Given the description of an element on the screen output the (x, y) to click on. 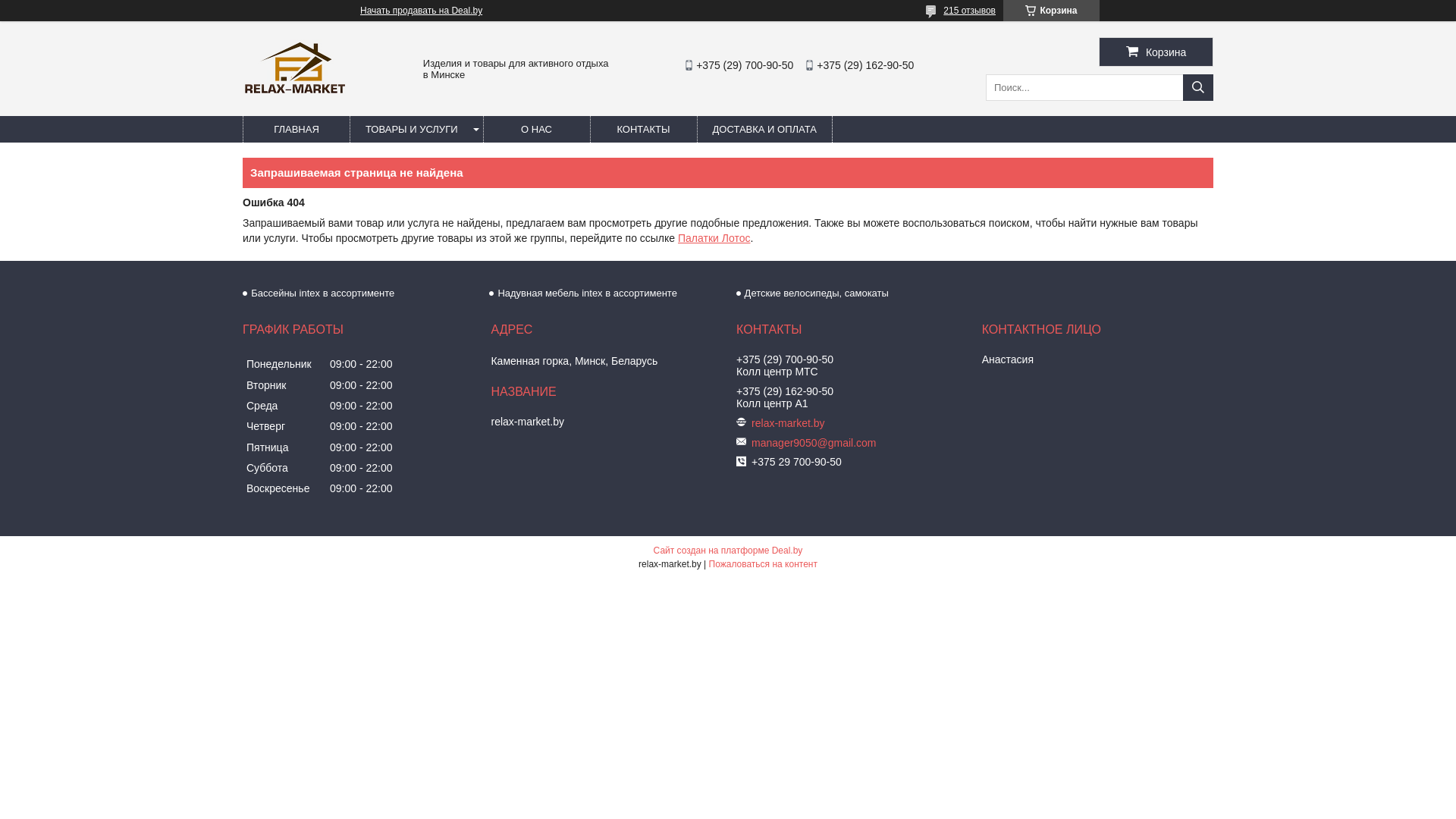
manager9050@gmail.com Element type: text (860, 442)
relax-market.by Element type: hover (294, 92)
relax-market.by Element type: text (825, 423)
